Given the description of an element on the screen output the (x, y) to click on. 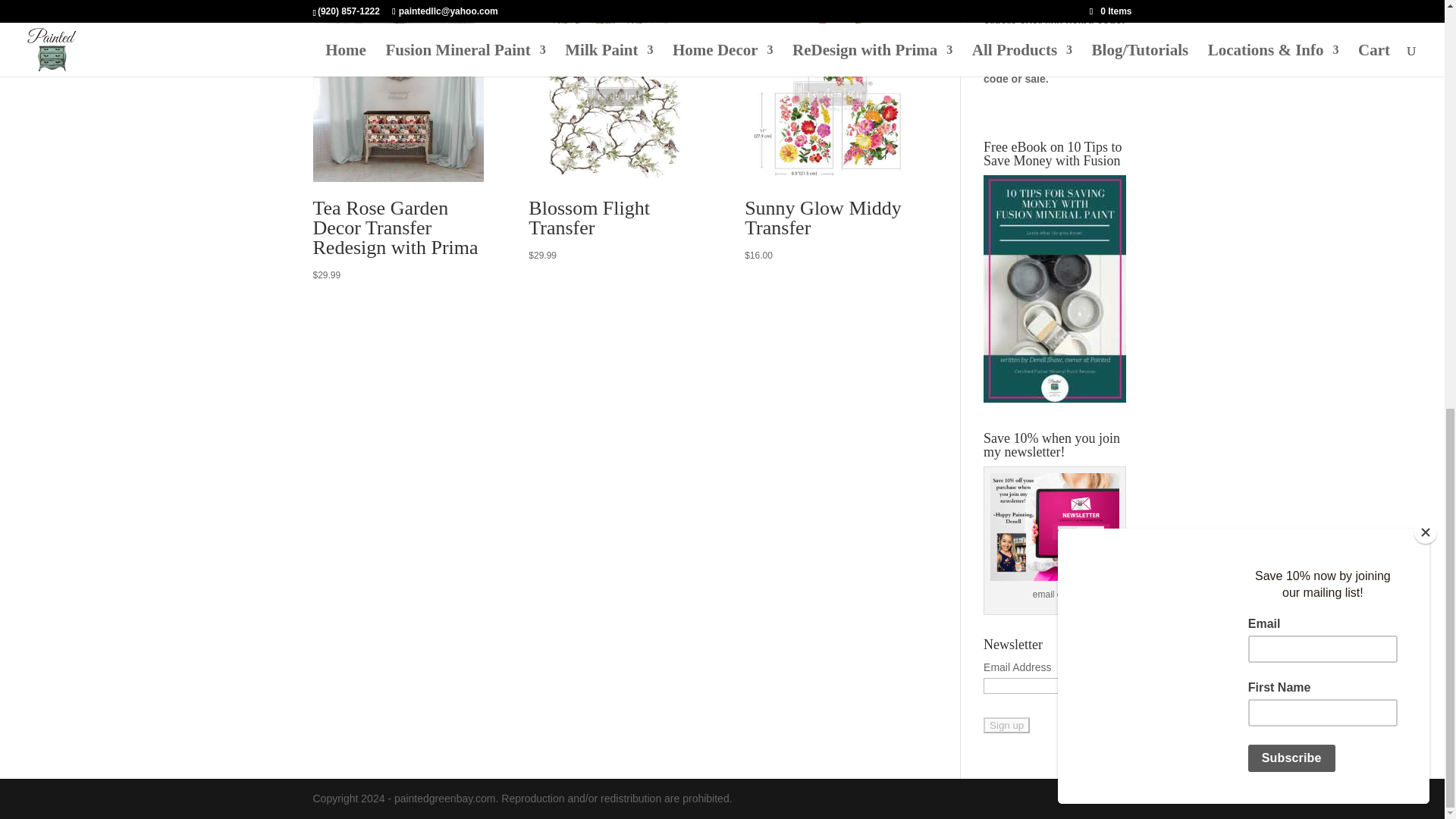
Sign up (1006, 725)
